Given the description of an element on the screen output the (x, y) to click on. 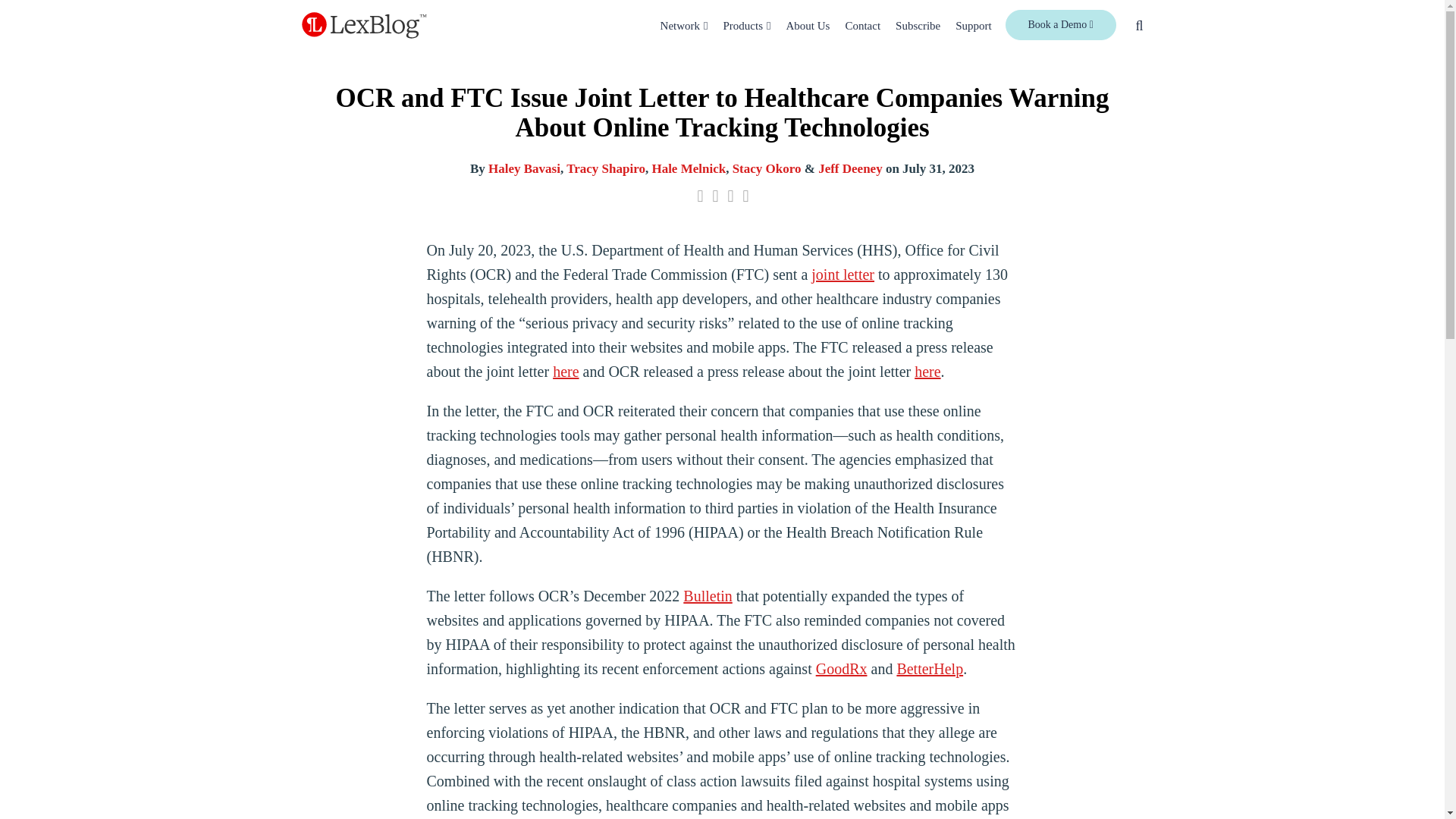
Stacy Okoro (767, 168)
Tracy Shapiro (605, 168)
Contact (862, 25)
Bulletin (707, 596)
Support (973, 25)
joint letter (842, 274)
GoodRx (841, 668)
About Us (807, 25)
Hale Melnick (687, 168)
Haley Bavasi (523, 168)
